Given the description of an element on the screen output the (x, y) to click on. 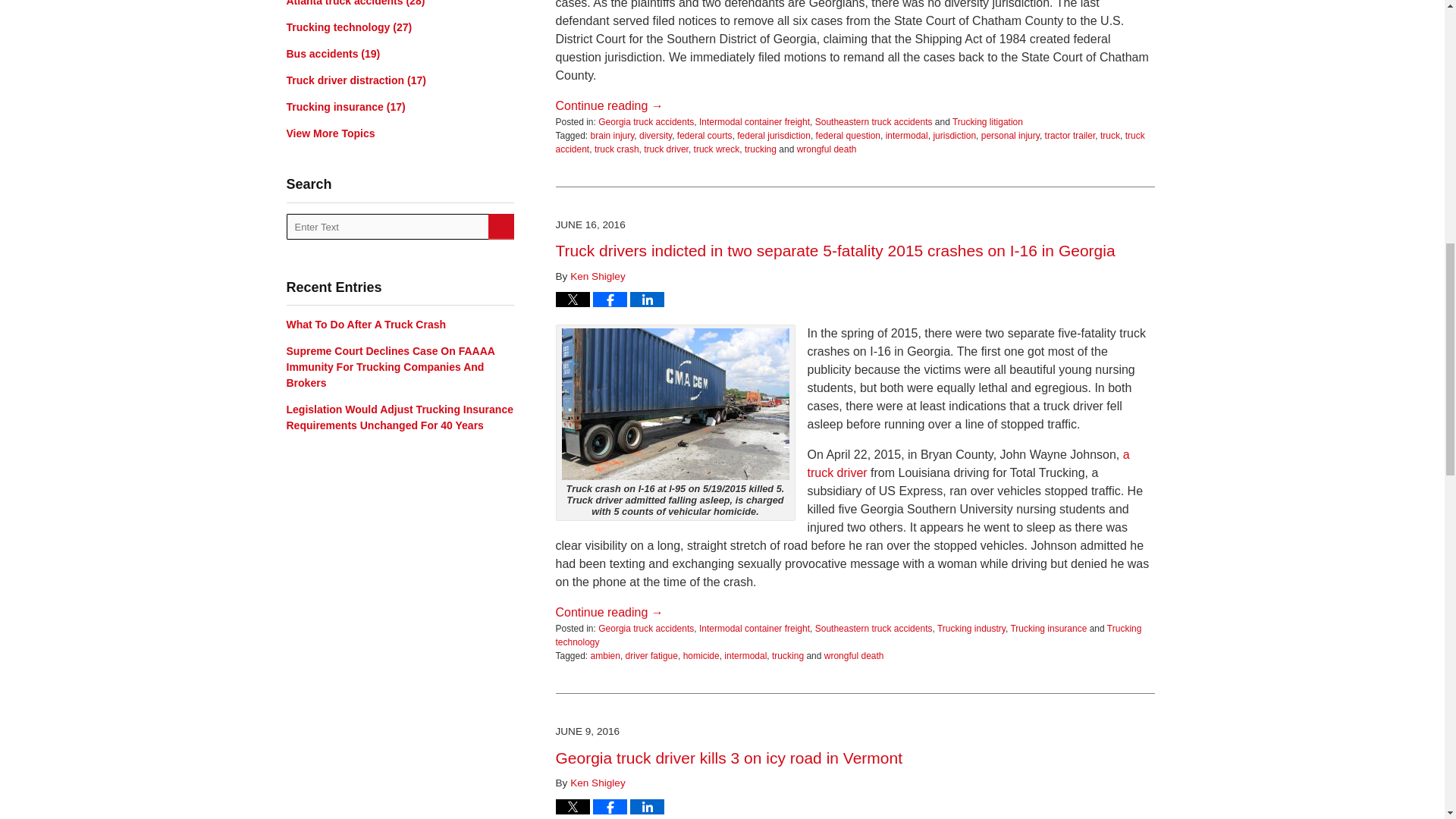
wrongful death (826, 149)
View all posts tagged with federal courts (704, 135)
View all posts tagged with federal jurisdiction (773, 135)
View all posts in Intermodal container freight (753, 122)
Southeastern truck accidents (874, 122)
federal question (847, 135)
Georgia truck accidents (646, 122)
Ken Shigley (598, 276)
View all posts tagged with tractor trailer (1070, 135)
trucking (760, 149)
truck wreck (716, 149)
personal injury (1010, 135)
View all posts tagged with diversity (655, 135)
federal courts (704, 135)
truck crash (616, 149)
